Given the description of an element on the screen output the (x, y) to click on. 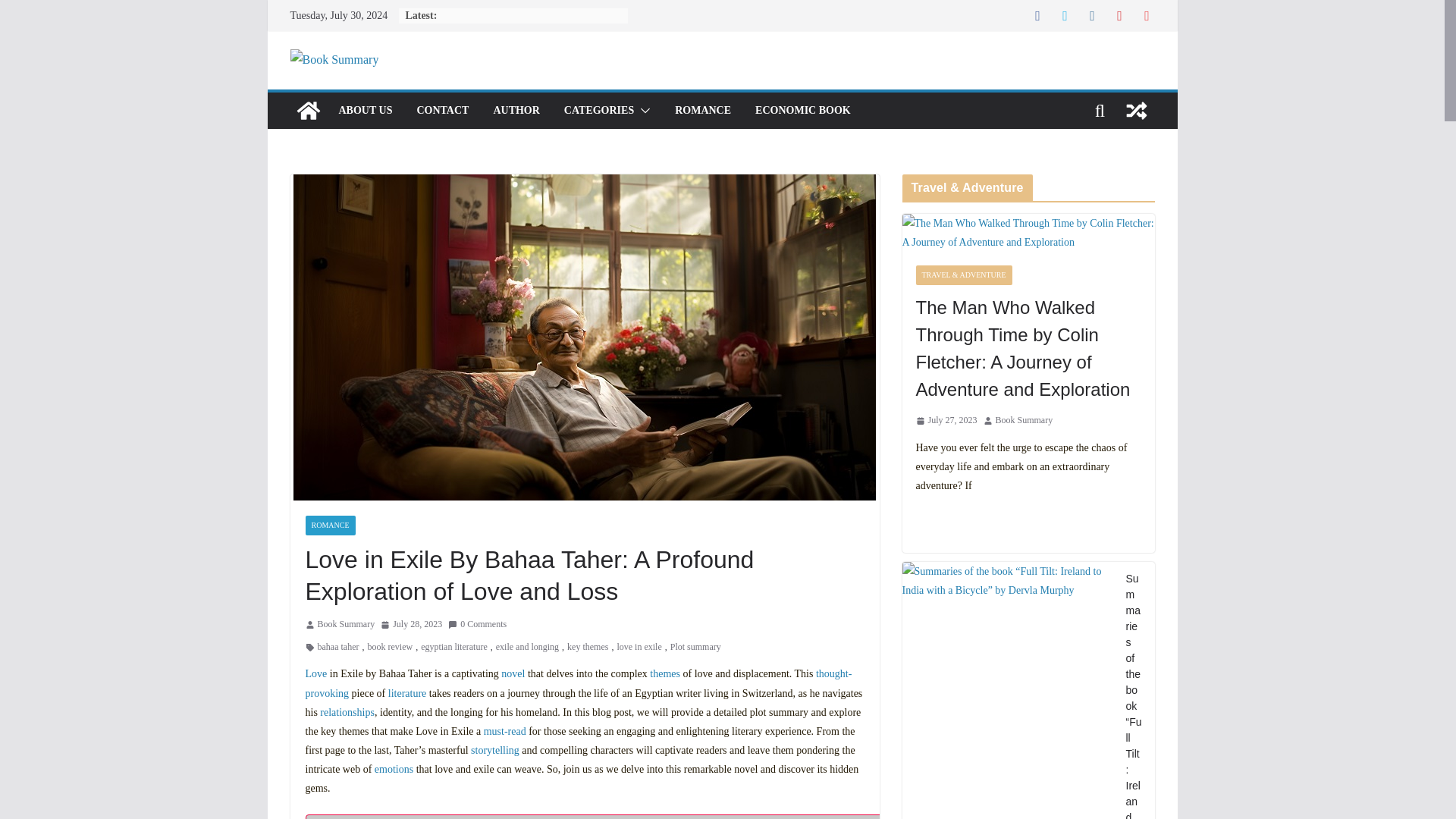
View a random post (1136, 110)
6:00 am (411, 624)
ROMANCE (702, 110)
book review (389, 647)
Book Summary (307, 110)
egyptian literature (453, 647)
July 28, 2023 (411, 624)
Book Summary (345, 624)
Book Summary (345, 624)
ECONOMIC BOOK (802, 110)
exile and longing (527, 647)
0 Comments (477, 624)
CATEGORIES (598, 110)
ABOUT US (364, 110)
bahaa taher (337, 647)
